Given the description of an element on the screen output the (x, y) to click on. 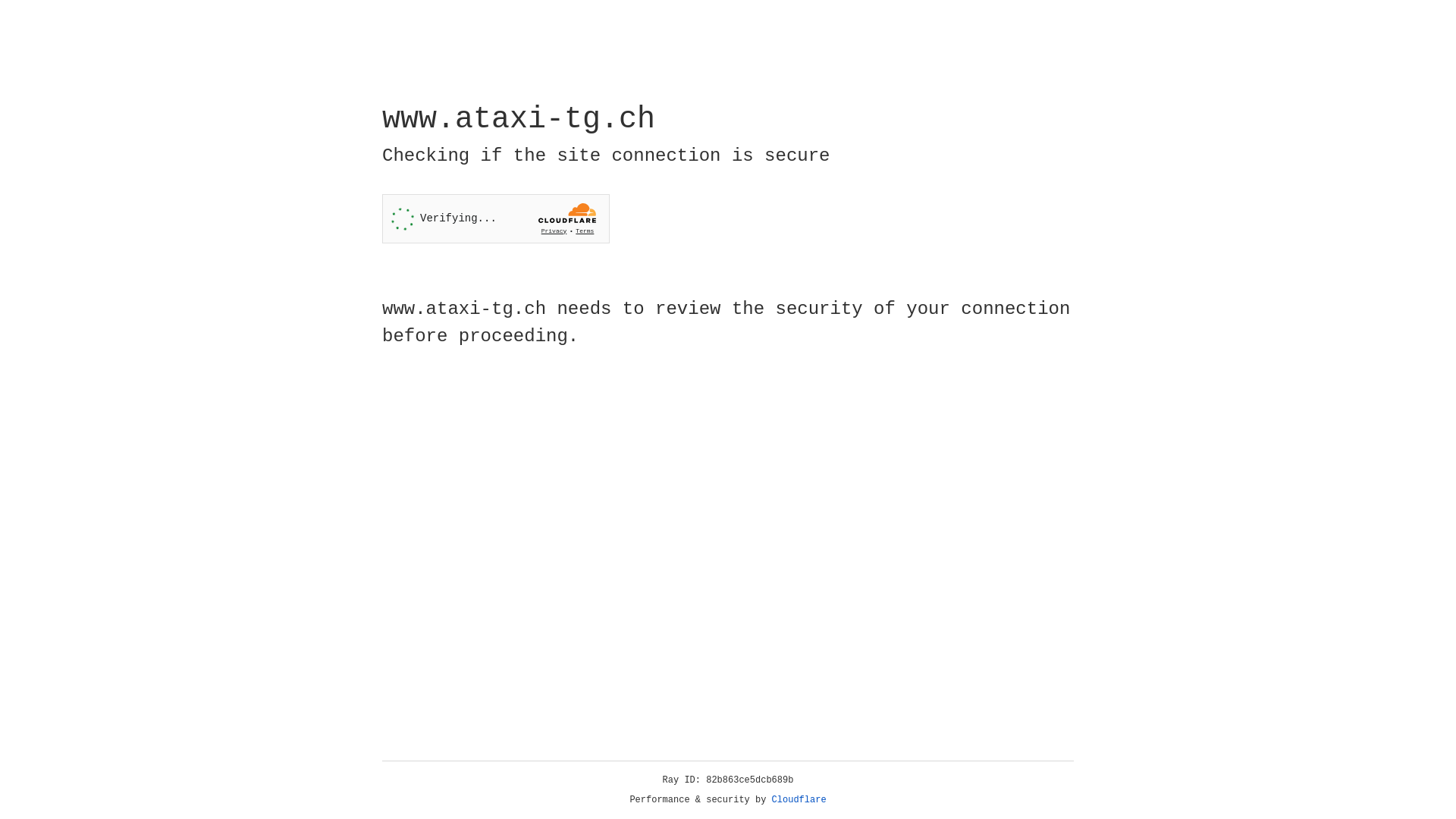
Cloudflare Element type: text (798, 799)
Widget containing a Cloudflare security challenge Element type: hover (495, 218)
